Given the description of an element on the screen output the (x, y) to click on. 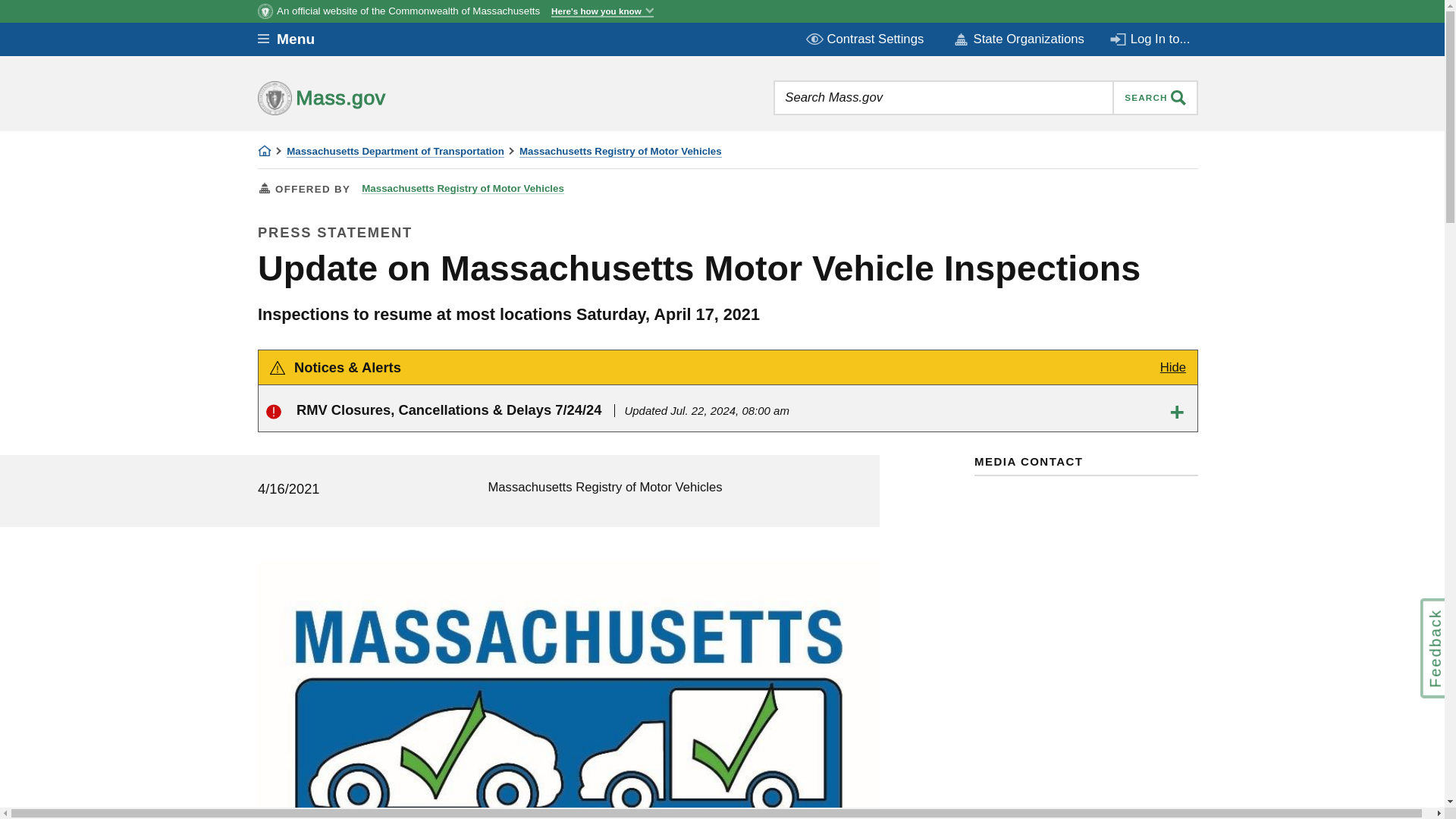
Log In to... (1151, 38)
Menu (297, 39)
Mass.gov home page (369, 97)
State Organizations (1018, 39)
Contrast Settings (866, 38)
